Given the description of an element on the screen output the (x, y) to click on. 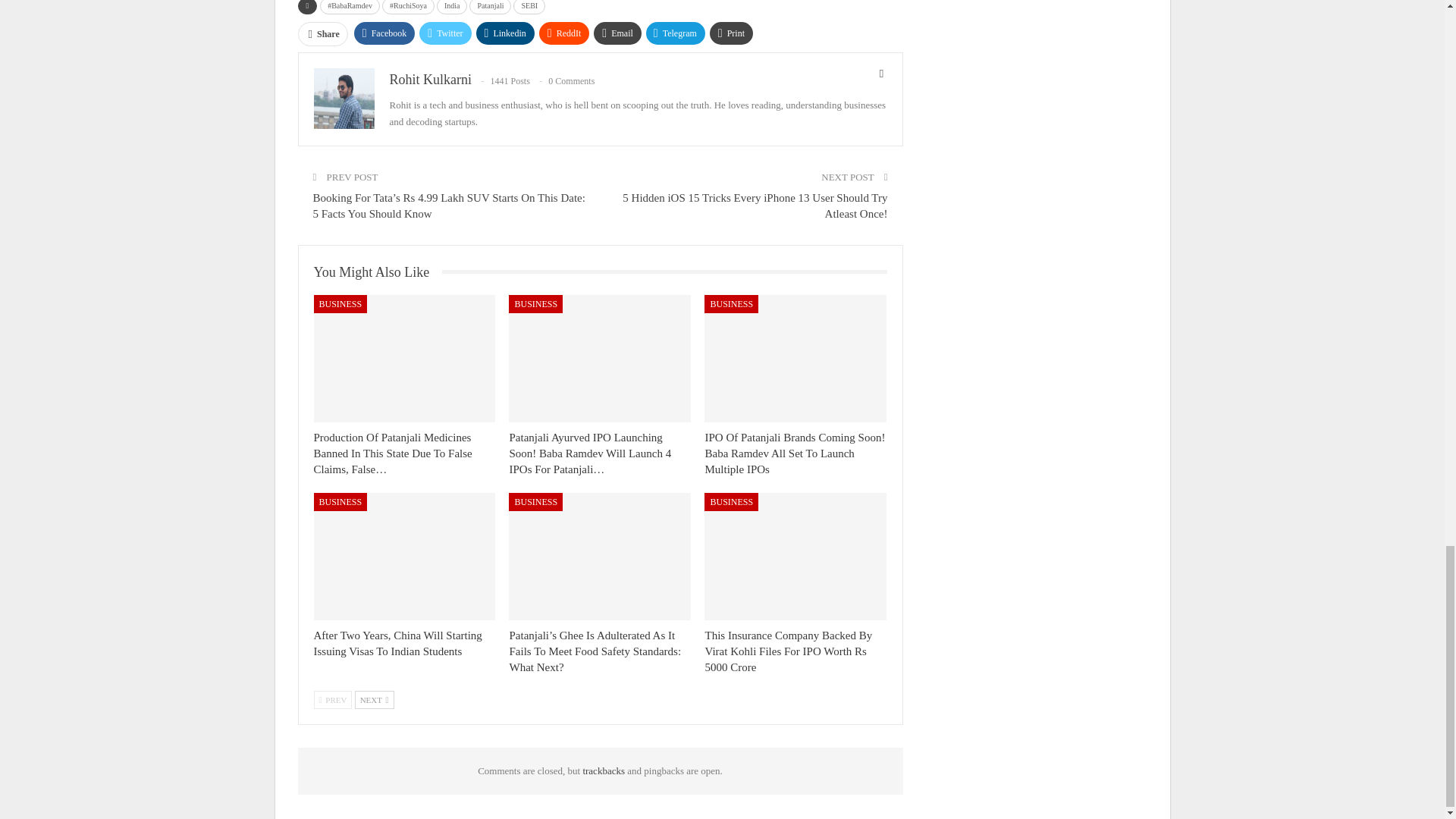
SEBI (528, 7)
Patanjali (489, 7)
India (451, 7)
